Given the description of an element on the screen output the (x, y) to click on. 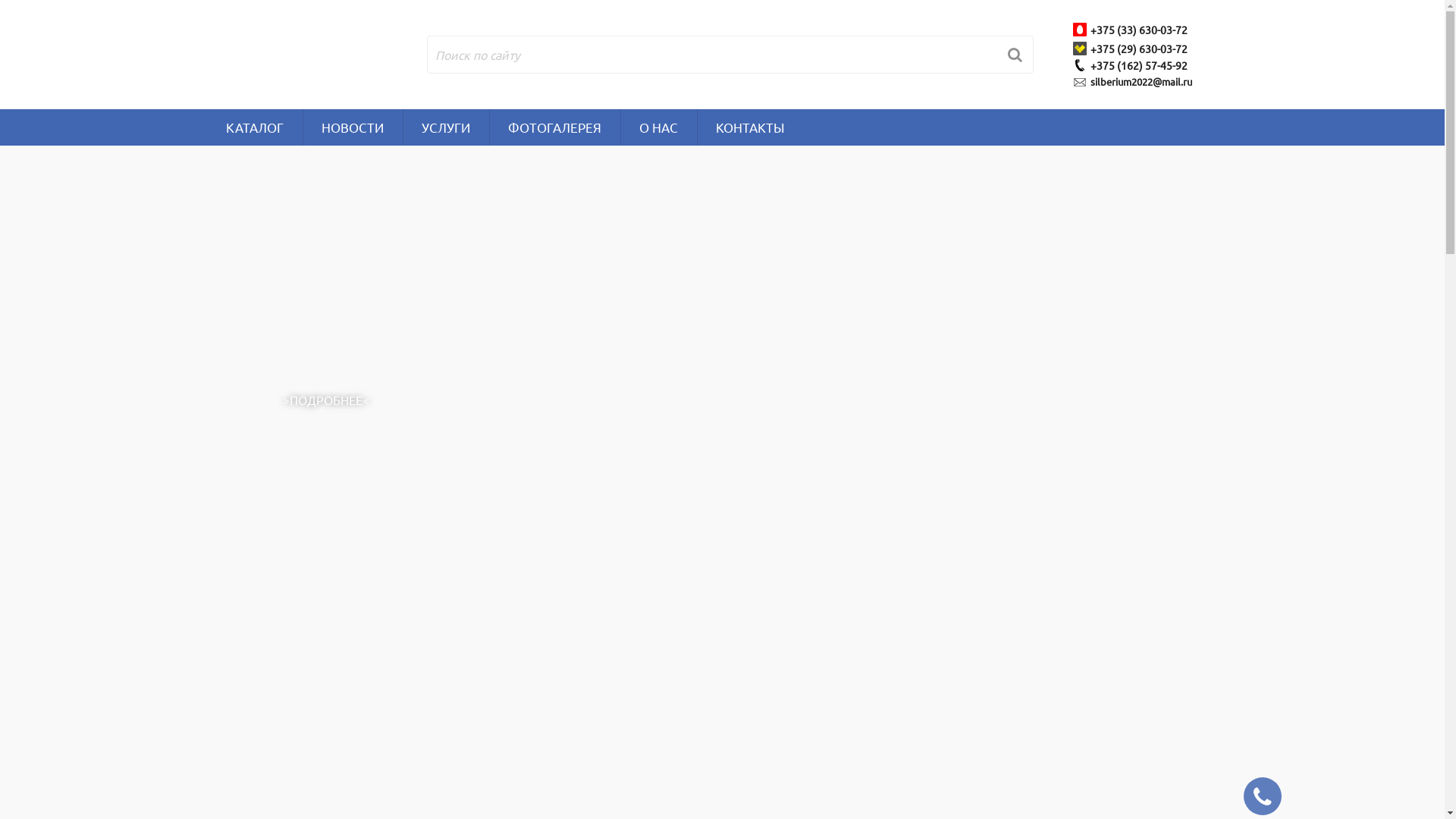
silberium2022@mail.ru Element type: text (1142, 81)
+375 (162) 57-45-92 Element type: text (1140, 65)
+375 (33) 630-03-72 Element type: text (1140, 29)
+375 (29) 630-03-72 Element type: text (1140, 48)
